Given the description of an element on the screen output the (x, y) to click on. 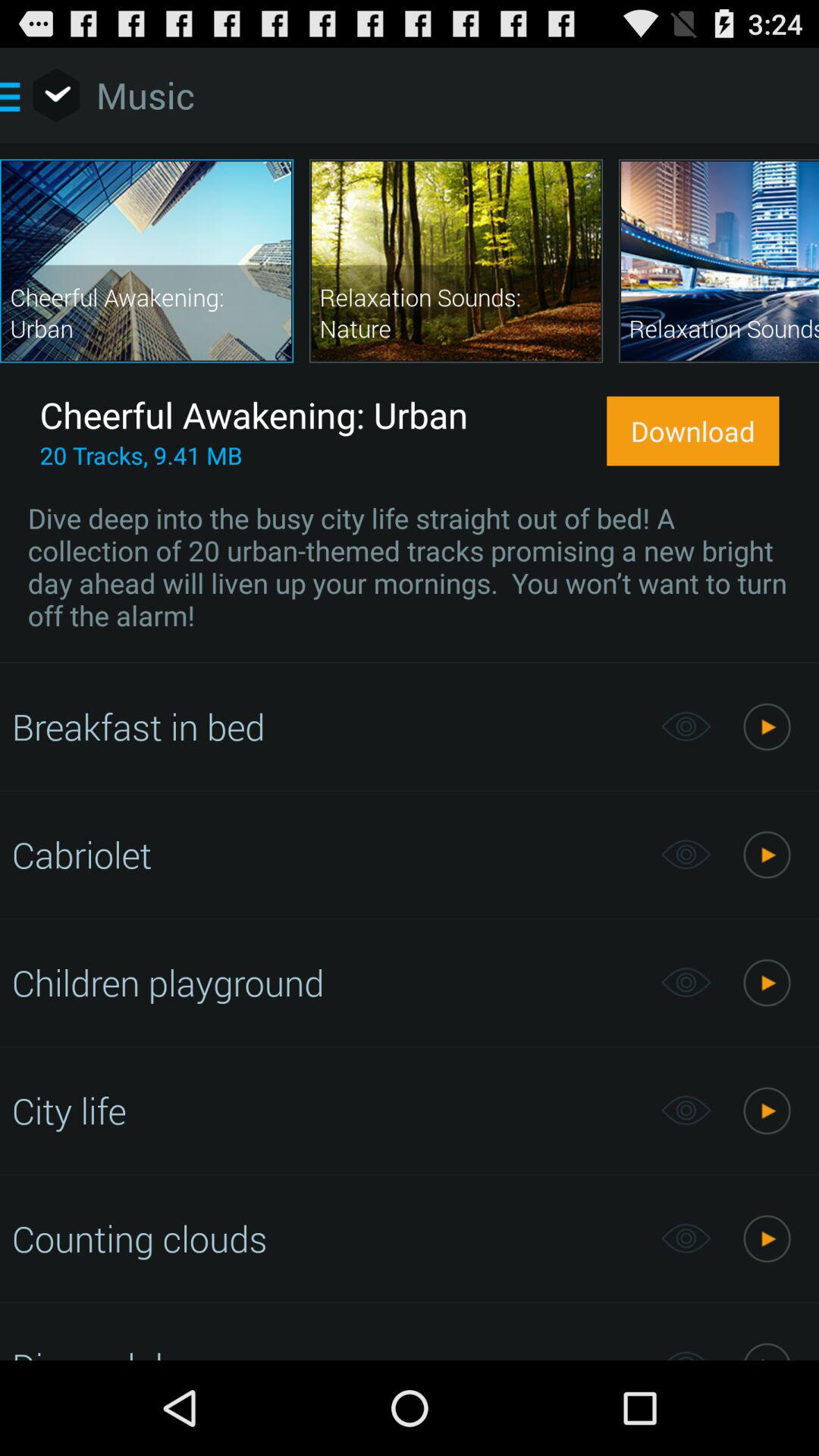
turn off item below the city life (327, 1238)
